Given the description of an element on the screen output the (x, y) to click on. 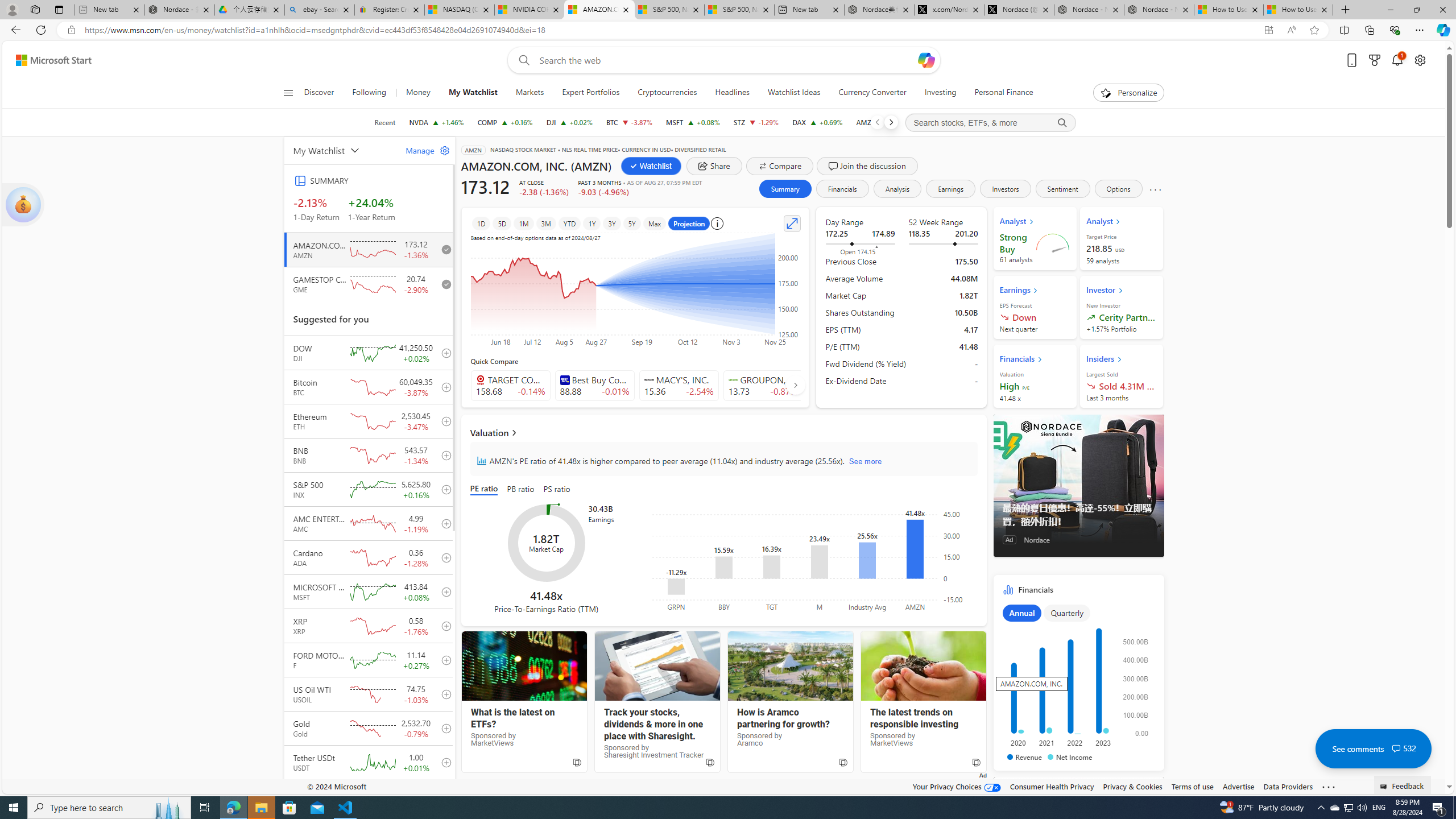
Investing (940, 92)
Expert Portfolios (591, 92)
App available. Install Start Money (1268, 29)
Cryptocurrencies (667, 92)
3M (545, 223)
Money (417, 92)
Options (1118, 188)
My Watchlist (472, 92)
Terms of use (1192, 785)
Data Providers (1288, 785)
